Given the description of an element on the screen output the (x, y) to click on. 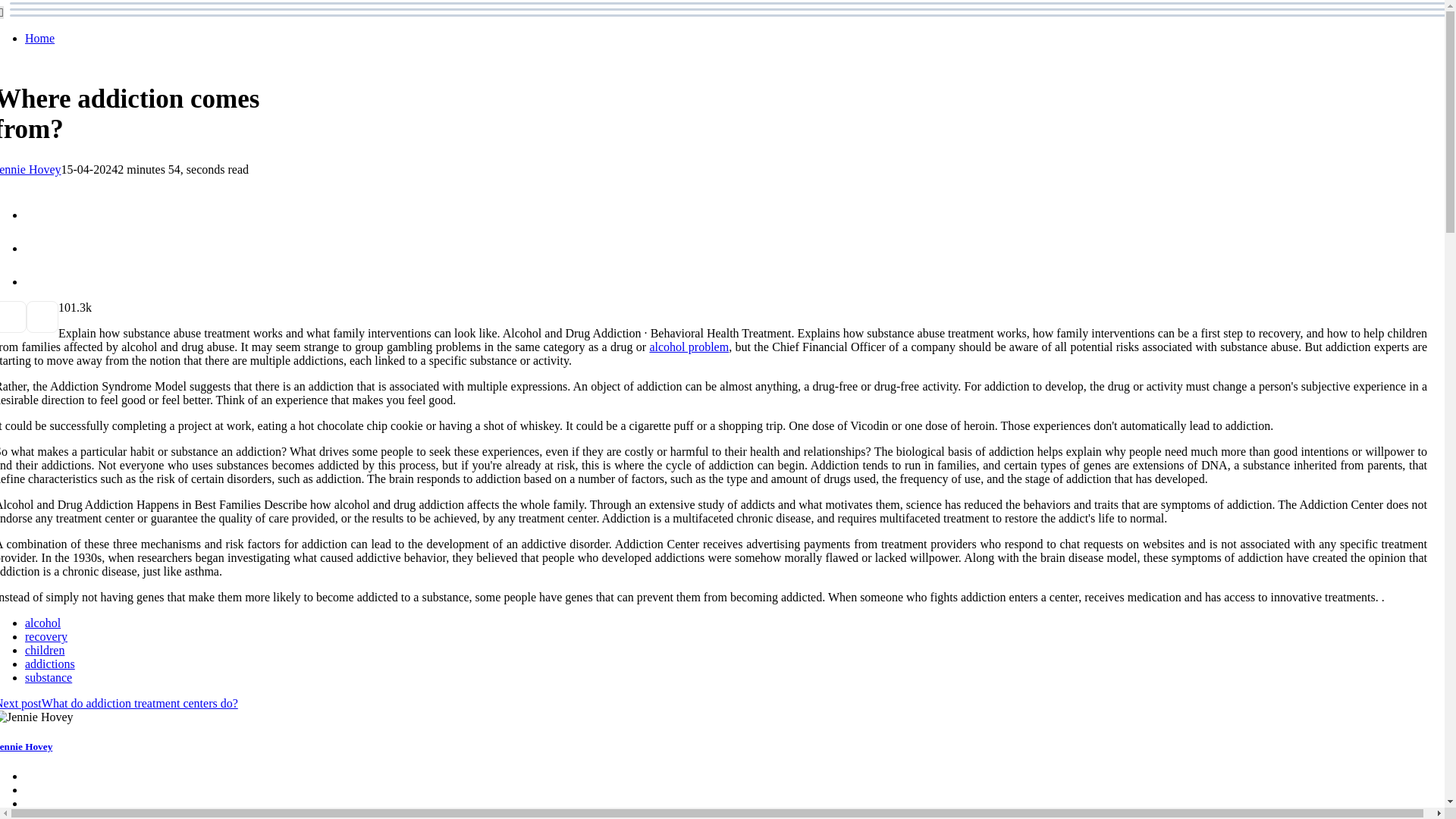
10 (63, 307)
Like (63, 307)
recovery (45, 635)
Home (39, 38)
Jennie Hovey (26, 746)
Jennie Hovey (30, 169)
children (44, 649)
alcohol (42, 622)
addictions (49, 663)
Posts by Jennie Hovey (30, 169)
